Given the description of an element on the screen output the (x, y) to click on. 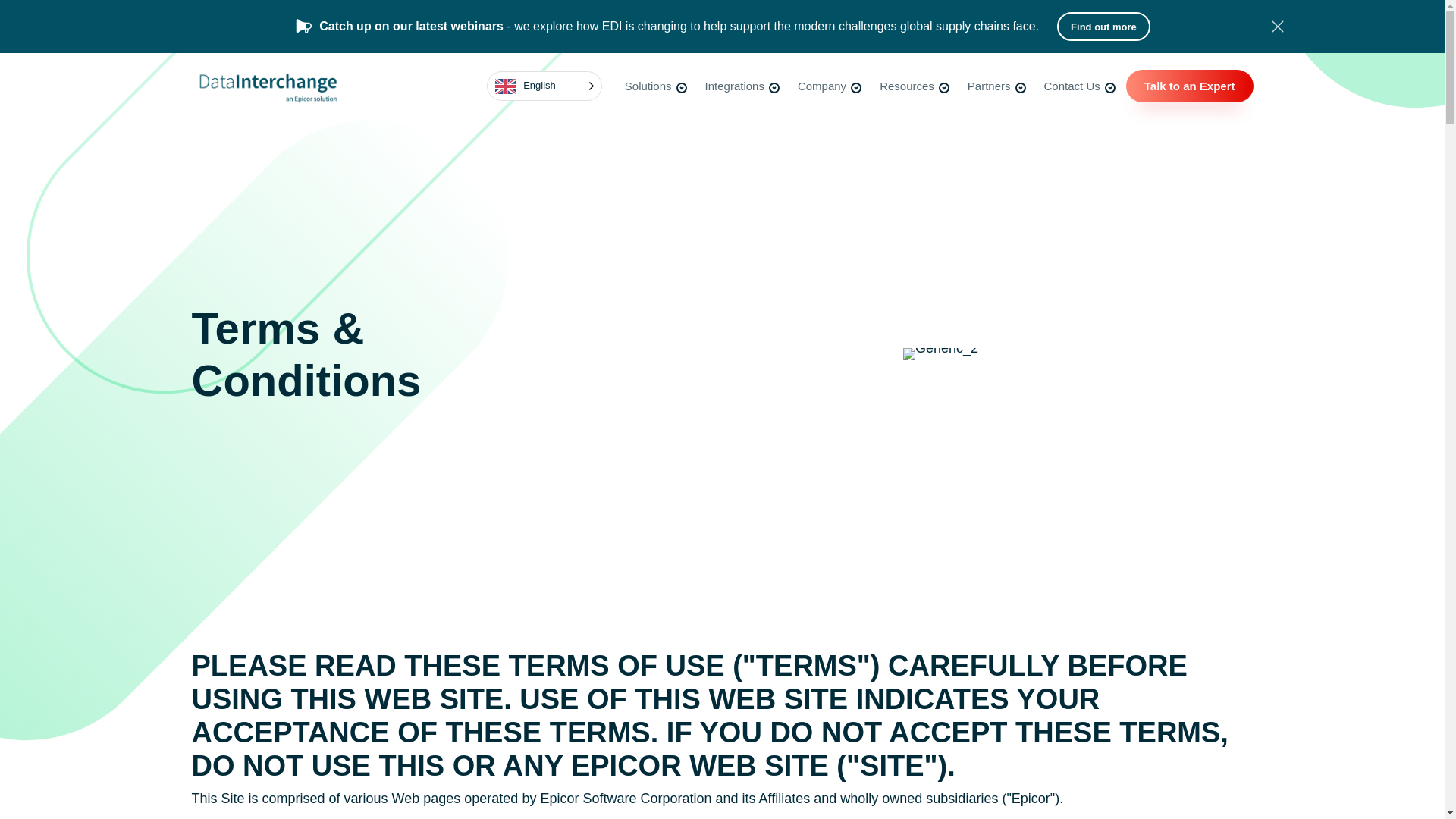
X (1276, 26)
Solutions (657, 85)
Find out more (1103, 26)
Megaphone (303, 26)
corp-datainterchange-logo-teal (266, 86)
